Given the description of an element on the screen output the (x, y) to click on. 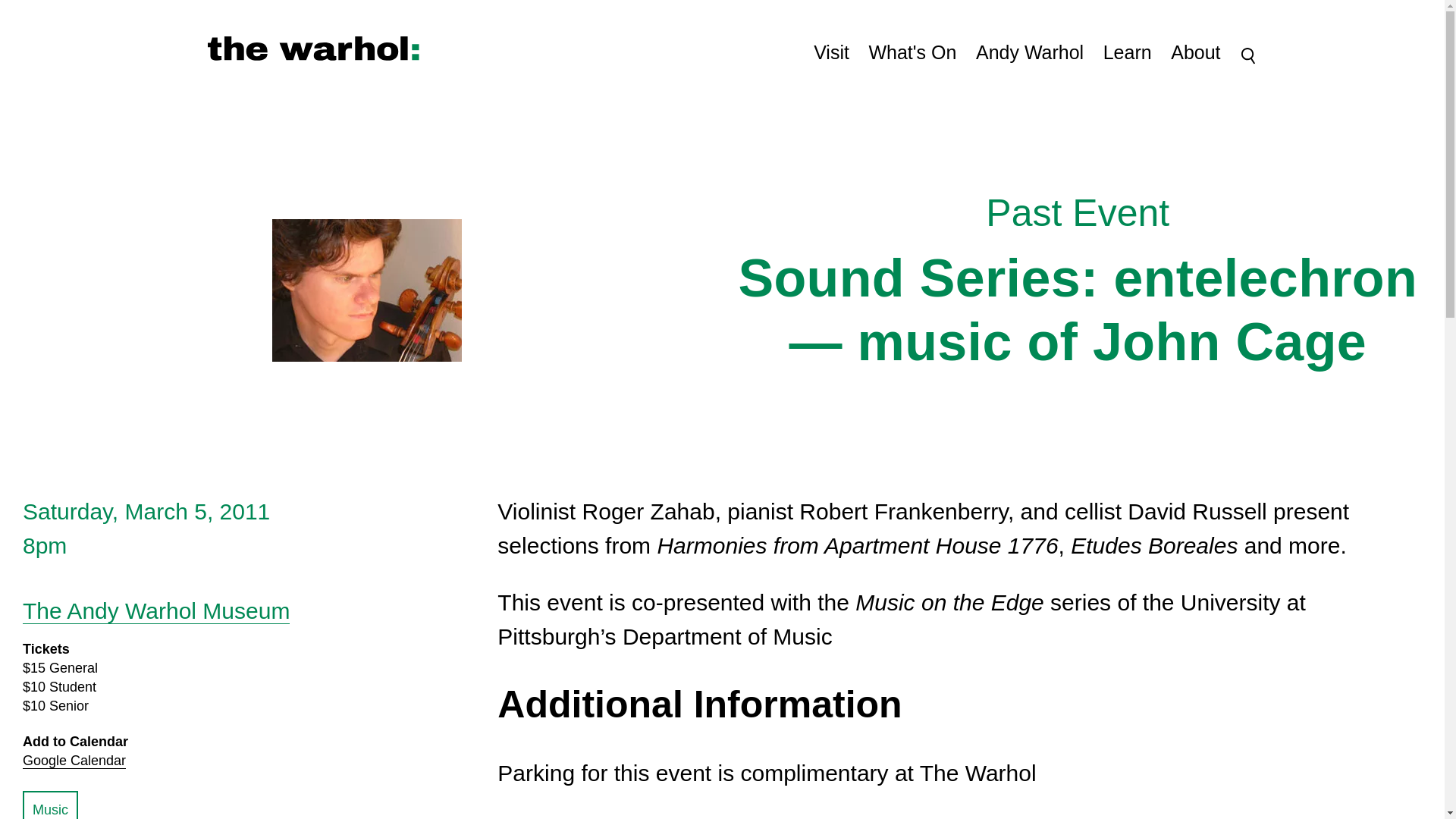
What's On (911, 53)
Learn (74, 760)
About (1127, 53)
the warhol: (1195, 53)
Andy Warhol (314, 48)
Visit (1029, 53)
Music (830, 53)
Search (50, 805)
The Andy Warhol Museum (1250, 56)
